Given the description of an element on the screen output the (x, y) to click on. 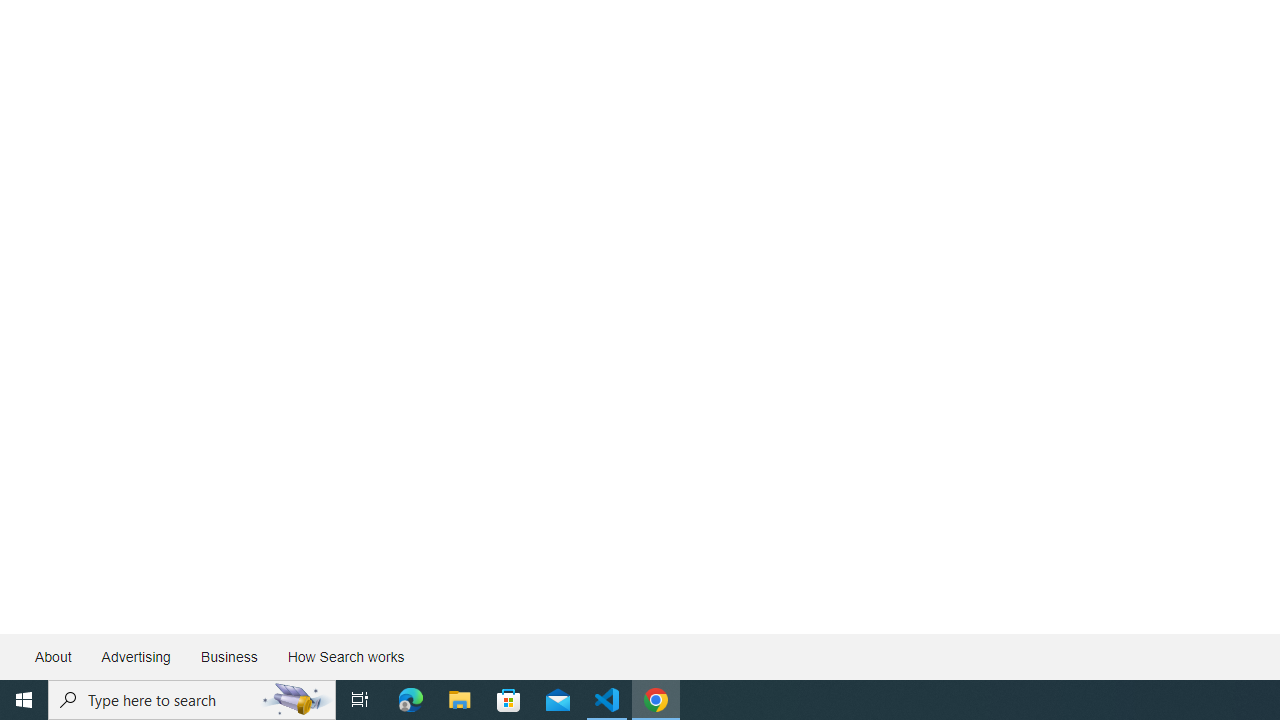
Advertising (135, 656)
About (53, 656)
Business (228, 656)
How Search works (345, 656)
